Given the description of an element on the screen output the (x, y) to click on. 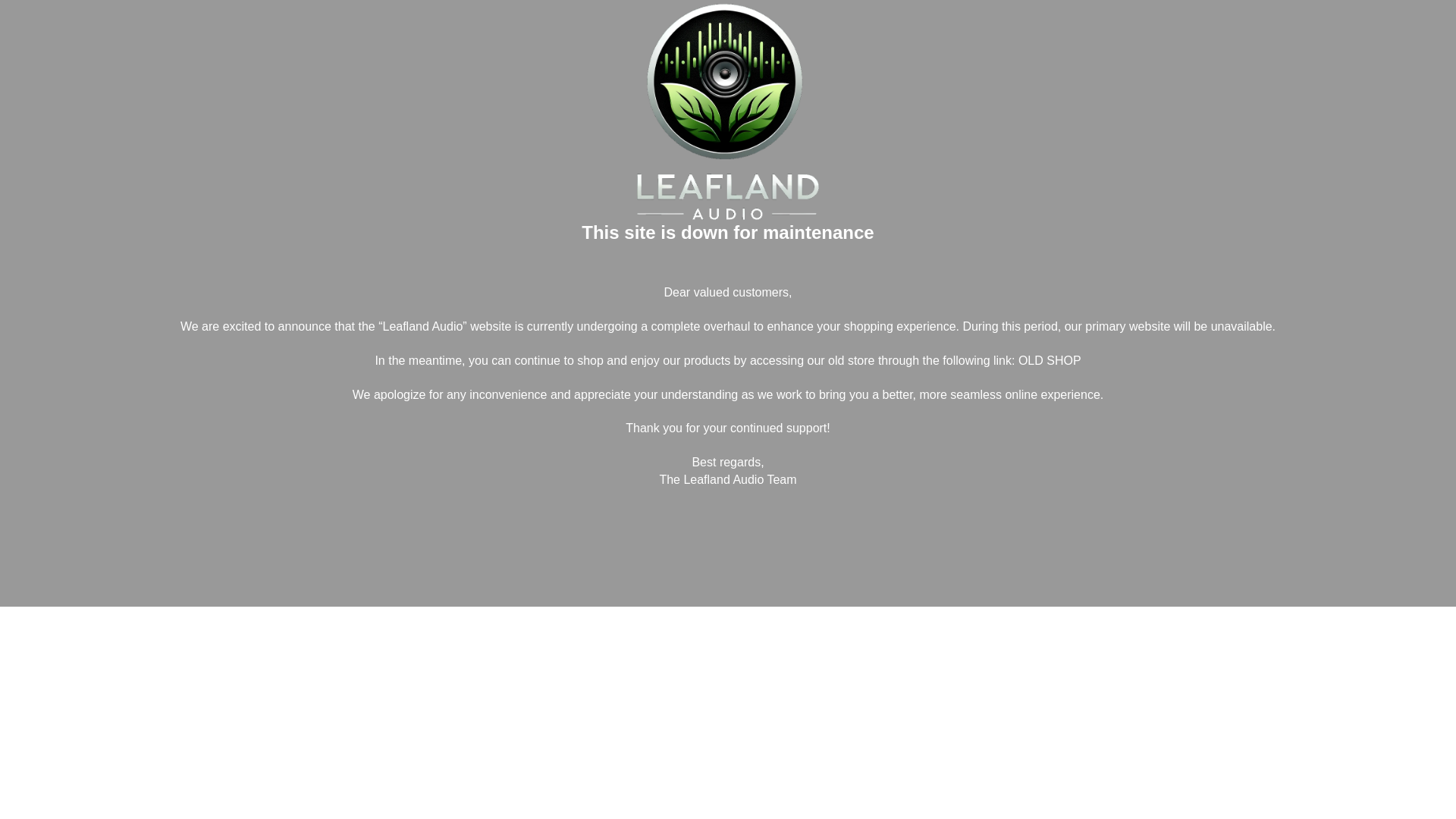
OLD SHOP (1049, 359)
